Given the description of an element on the screen output the (x, y) to click on. 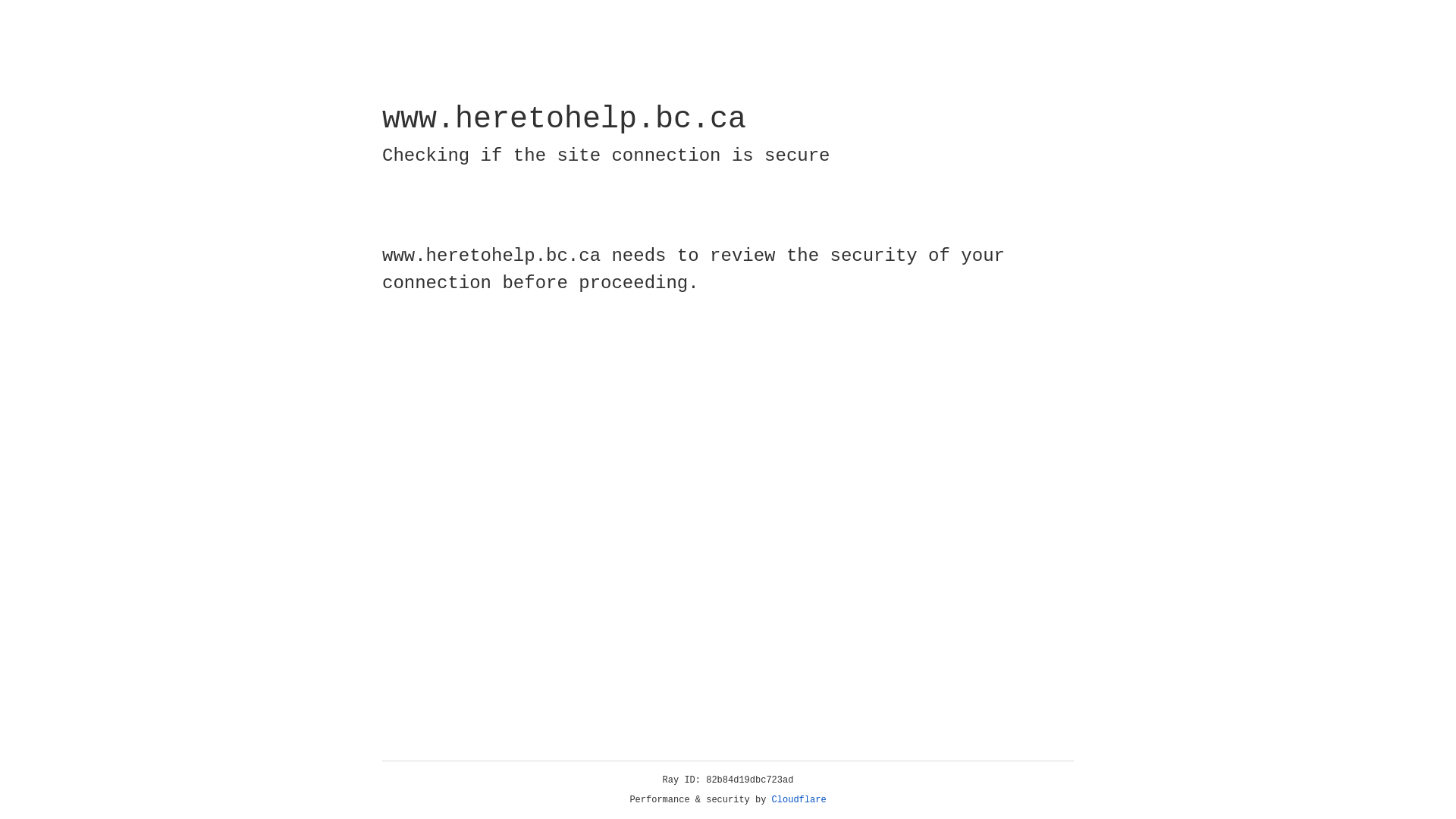
Cloudflare Element type: text (798, 799)
